Given the description of an element on the screen output the (x, y) to click on. 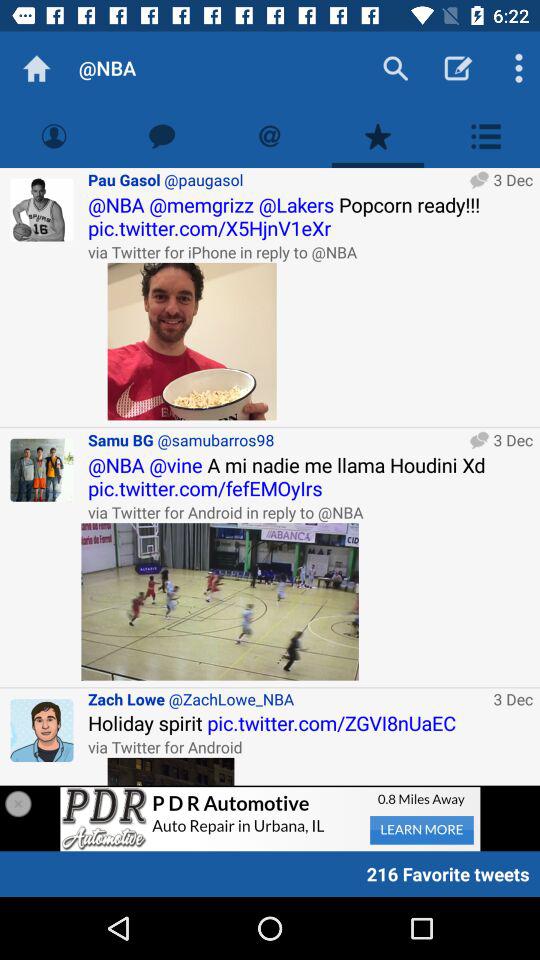
return home (36, 68)
